Given the description of an element on the screen output the (x, y) to click on. 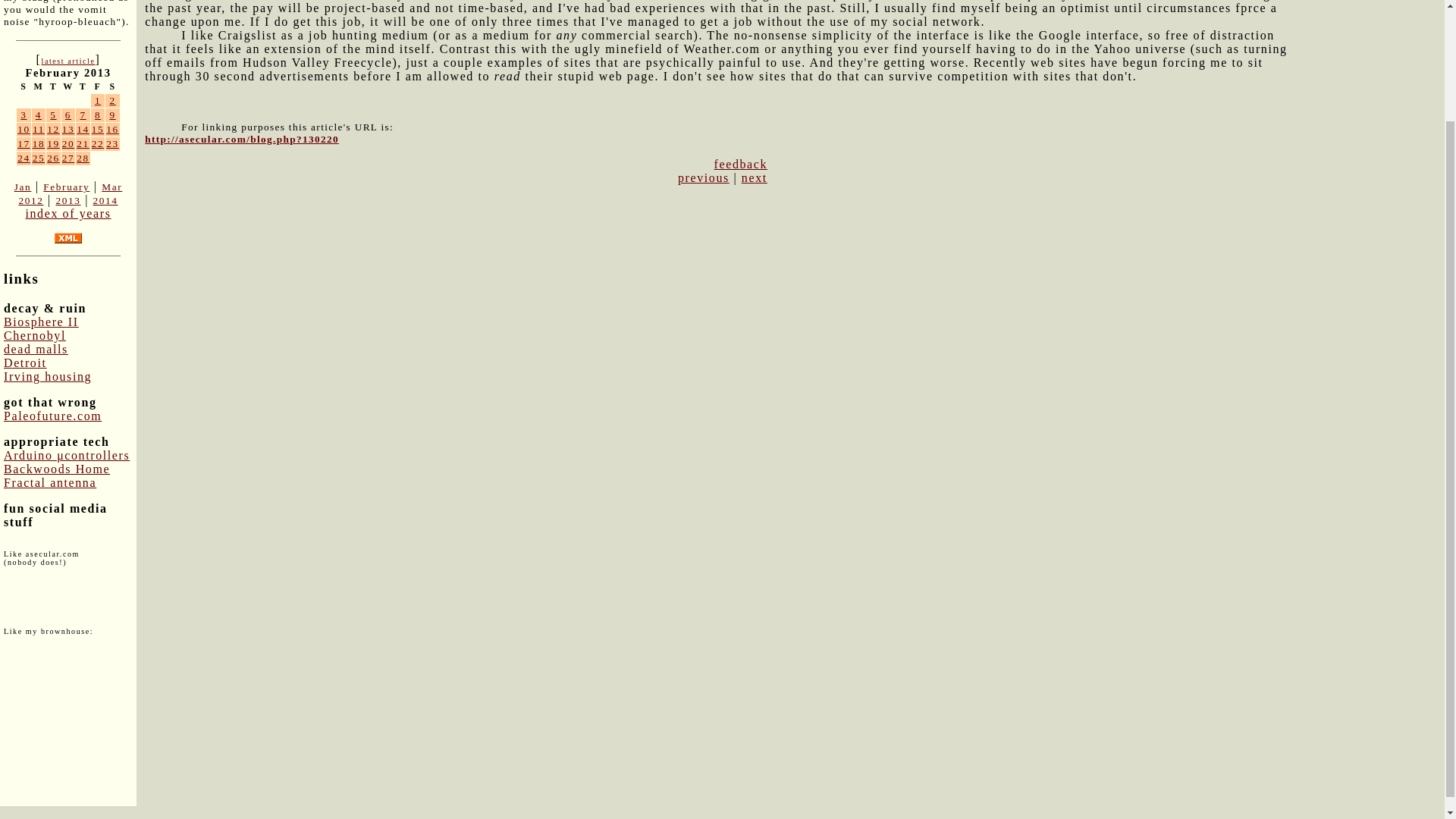
18 (38, 143)
25 (38, 157)
26 (52, 157)
latest article (67, 60)
13 (68, 129)
21 (82, 143)
23 (112, 143)
24 (23, 157)
27 (68, 157)
Chernobyl (34, 335)
2014 (105, 200)
2012 (30, 200)
2013 (67, 200)
28 (82, 157)
Biosphere II (41, 321)
